Given the description of an element on the screen output the (x, y) to click on. 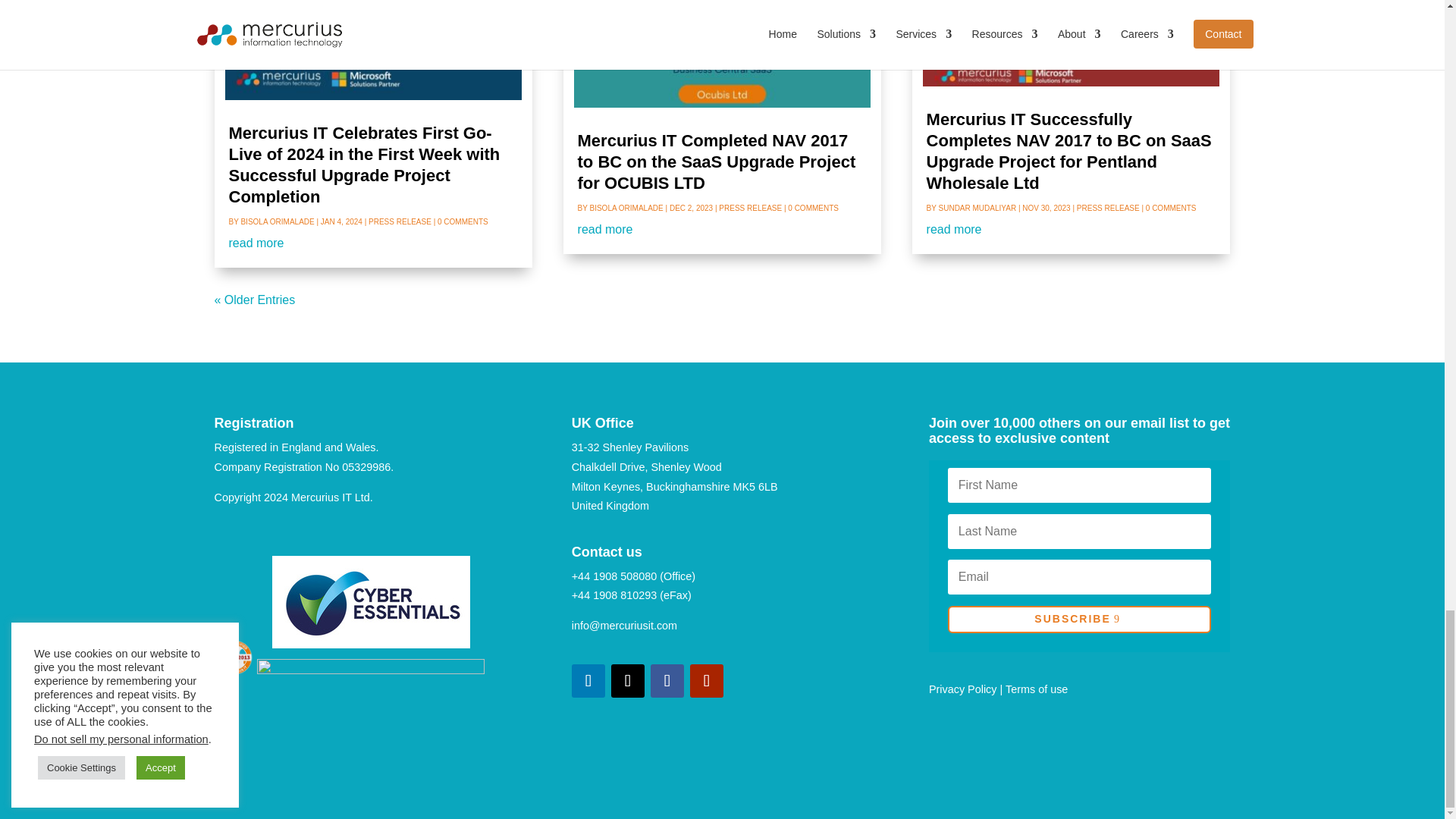
Posts by Bisola Orimalade (277, 221)
Posts by Bisola Orimalade (625, 207)
Follow on LinkedIn (588, 680)
Follow on Youtube (706, 680)
Follow on Twitter (628, 680)
Posts by Sundar Mudaliyar (977, 207)
Follow on Facebook (667, 680)
